Given the description of an element on the screen output the (x, y) to click on. 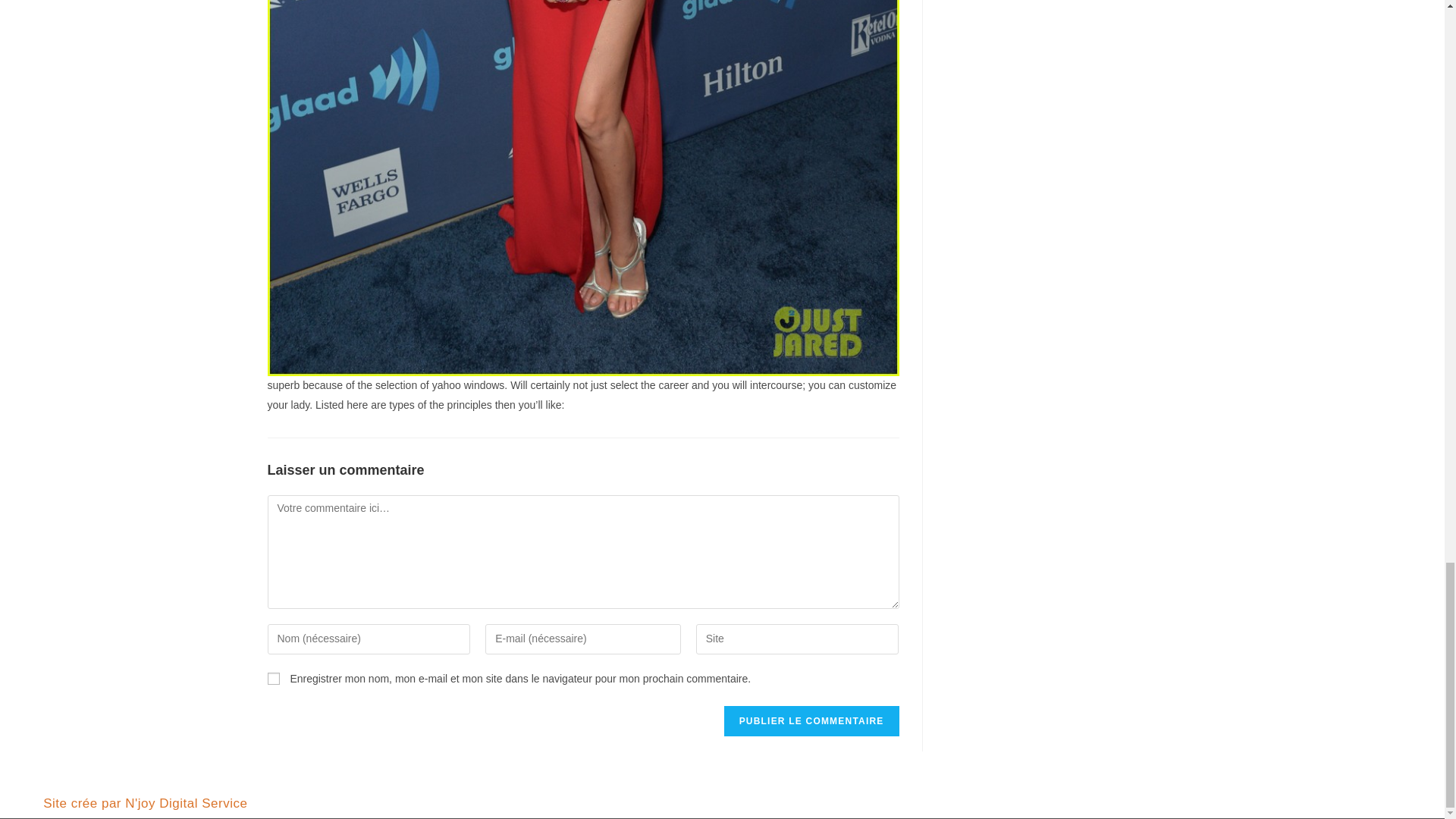
Publier le commentaire (811, 720)
yes (272, 678)
Publier le commentaire (811, 720)
